Given the description of an element on the screen output the (x, y) to click on. 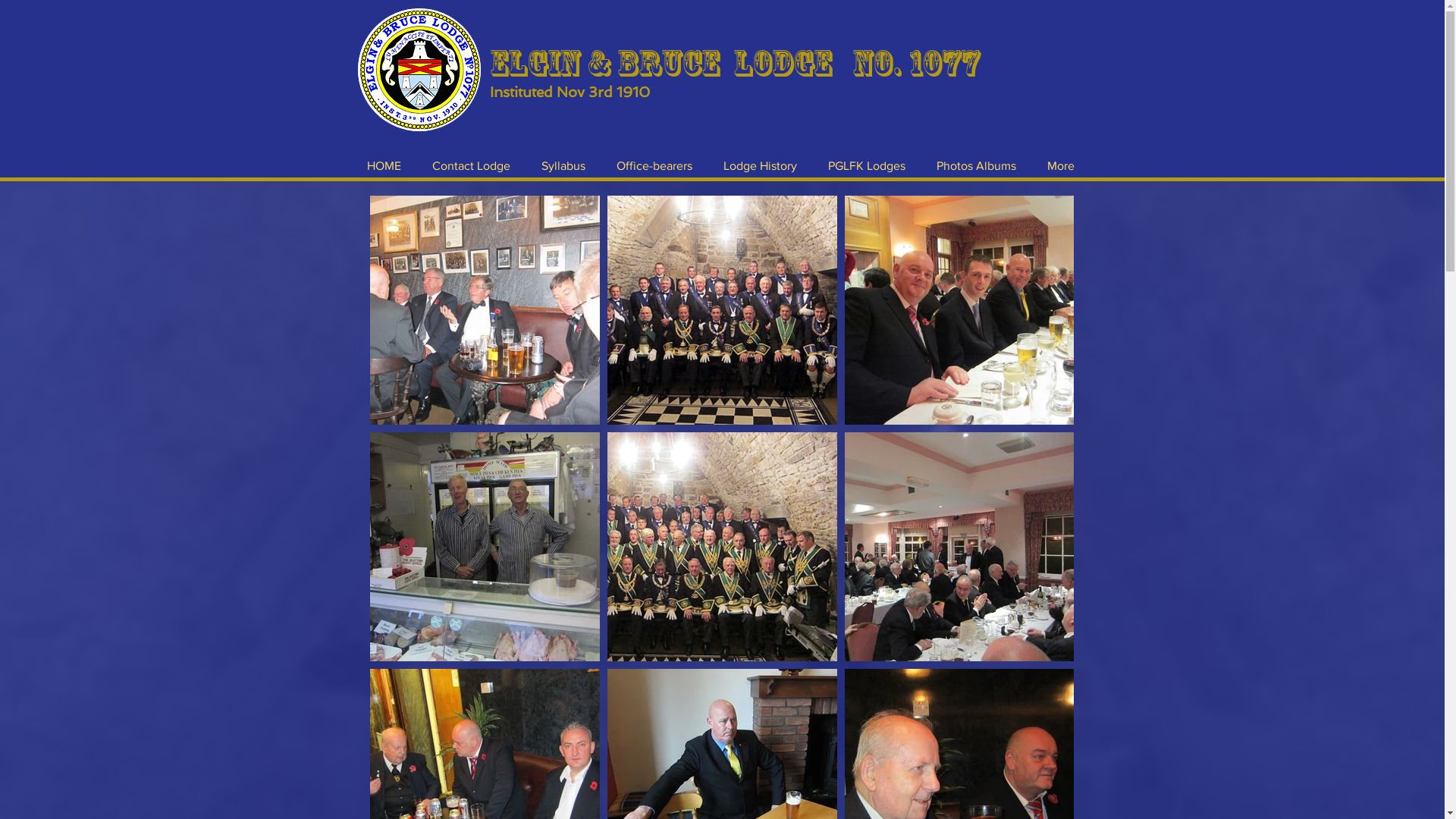
Photos Albums Element type: text (975, 165)
PGLFK Lodges Element type: text (866, 165)
Syllabus Element type: text (563, 165)
Office-bearers Element type: text (653, 165)
HOME Element type: text (383, 165)
Contact Lodge Element type: text (471, 165)
Lodge History Element type: text (760, 165)
